Given the description of an element on the screen output the (x, y) to click on. 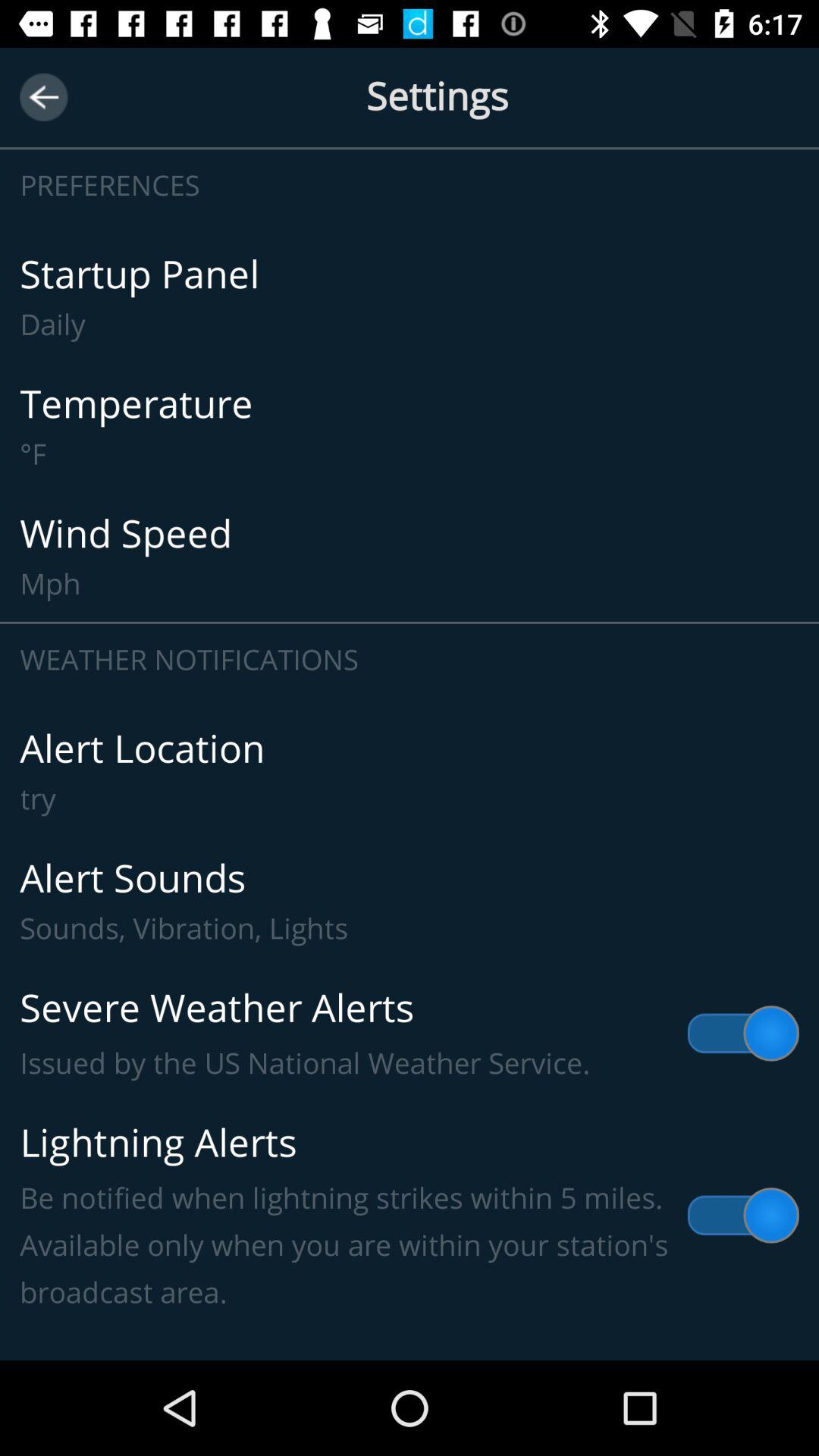
click on the button beside settings (43, 97)
